Given the description of an element on the screen output the (x, y) to click on. 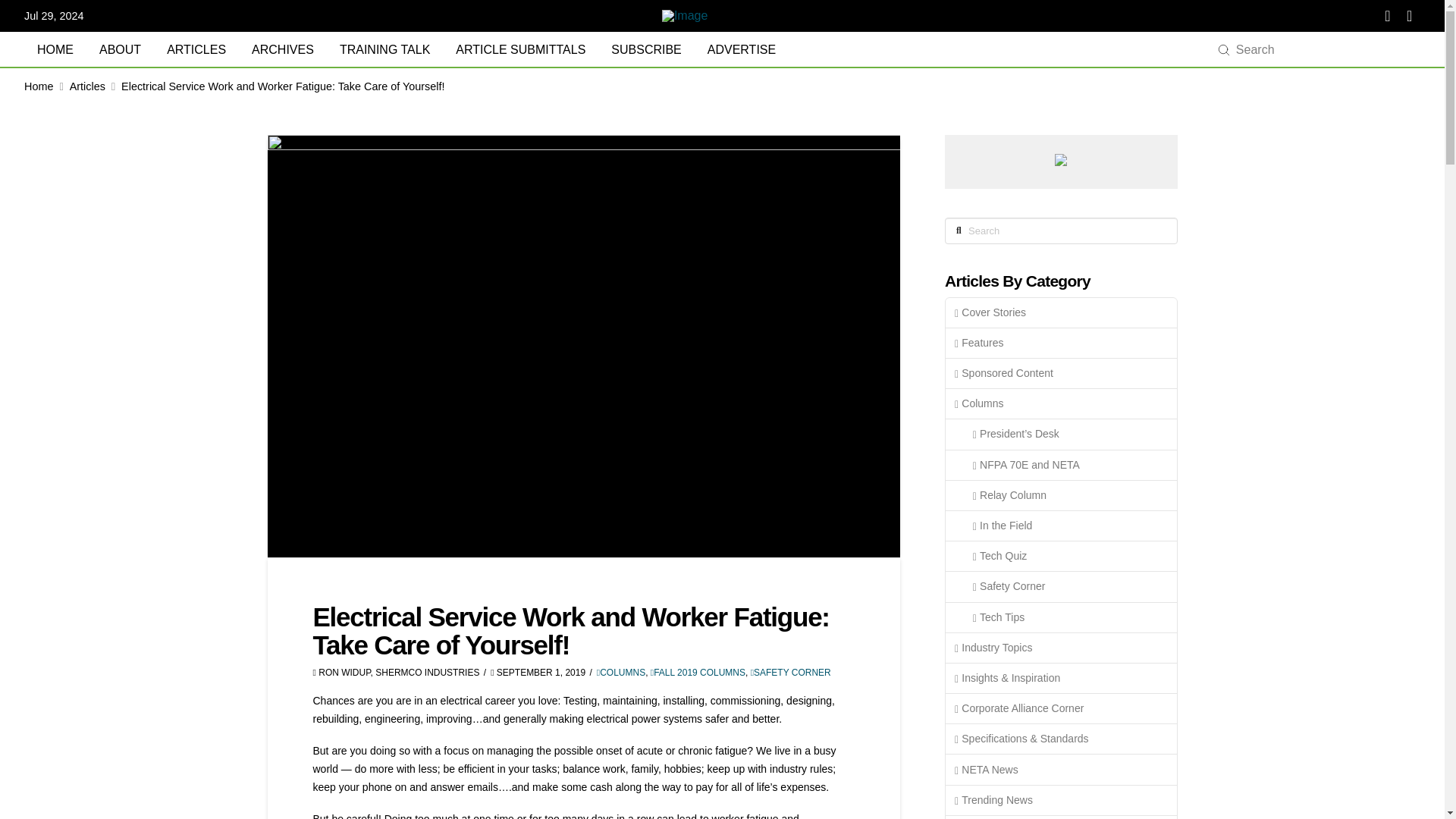
Safety Corner (1060, 586)
Columns (1060, 404)
Submit (1223, 50)
SAFETY CORNER (791, 672)
Cover Stories (1060, 313)
Trending News (1060, 800)
HOME (54, 49)
ARCHIVES (282, 49)
Corporate Alliance Corner (1060, 708)
Relay Column (1060, 495)
FALL 2019 COLUMNS (697, 672)
NETA News (1060, 769)
Tech Quiz (1060, 556)
TRAINING TALK (384, 49)
SUBSCRIBE (646, 49)
